Given the description of an element on the screen output the (x, y) to click on. 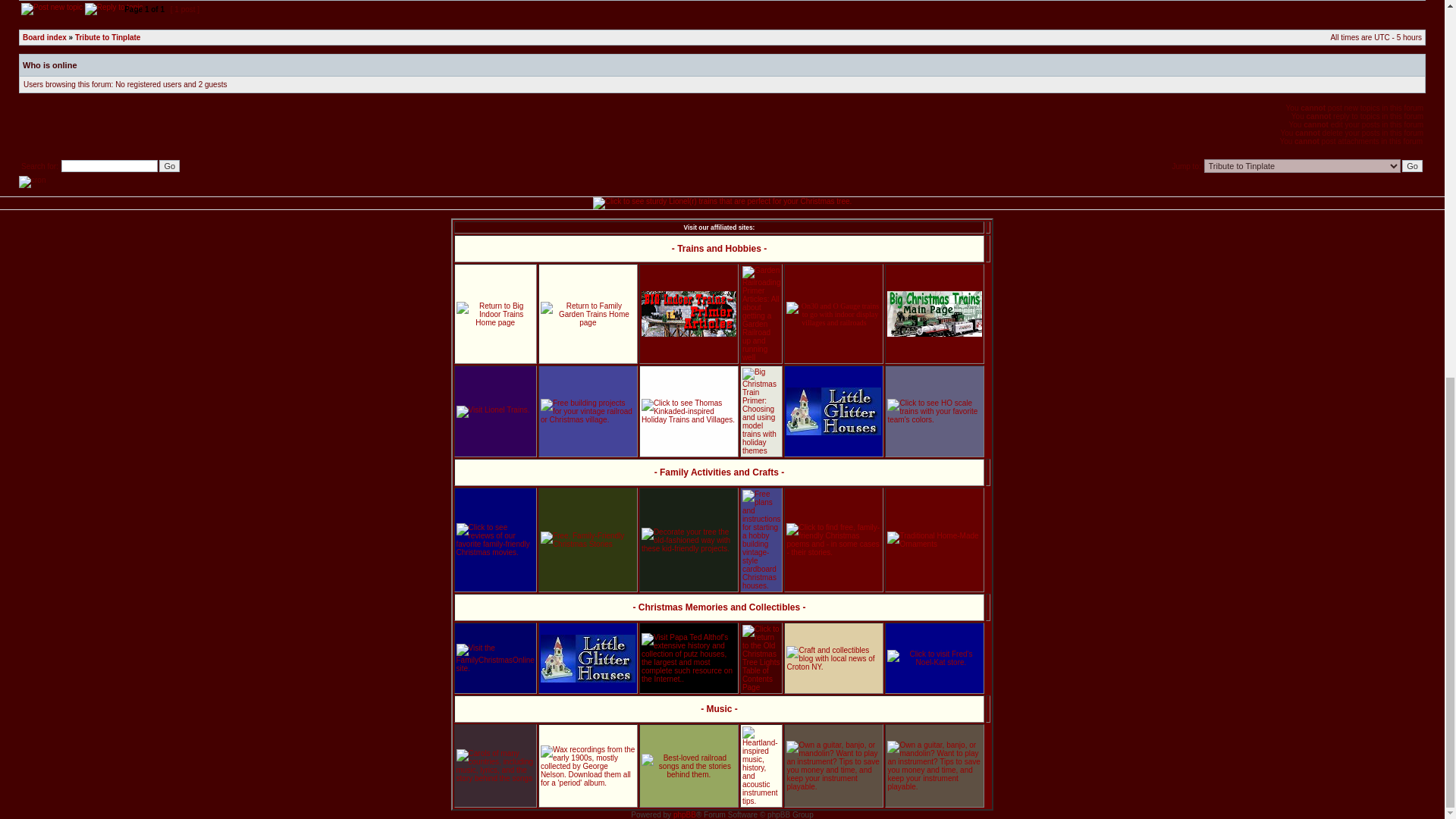
Tribute to Tinplate (107, 37)
Reply to topic (113, 9)
Board index (44, 37)
Go (168, 165)
Post new topic (51, 9)
Go (1412, 165)
Go (1412, 165)
Go (168, 165)
